Given the description of an element on the screen output the (x, y) to click on. 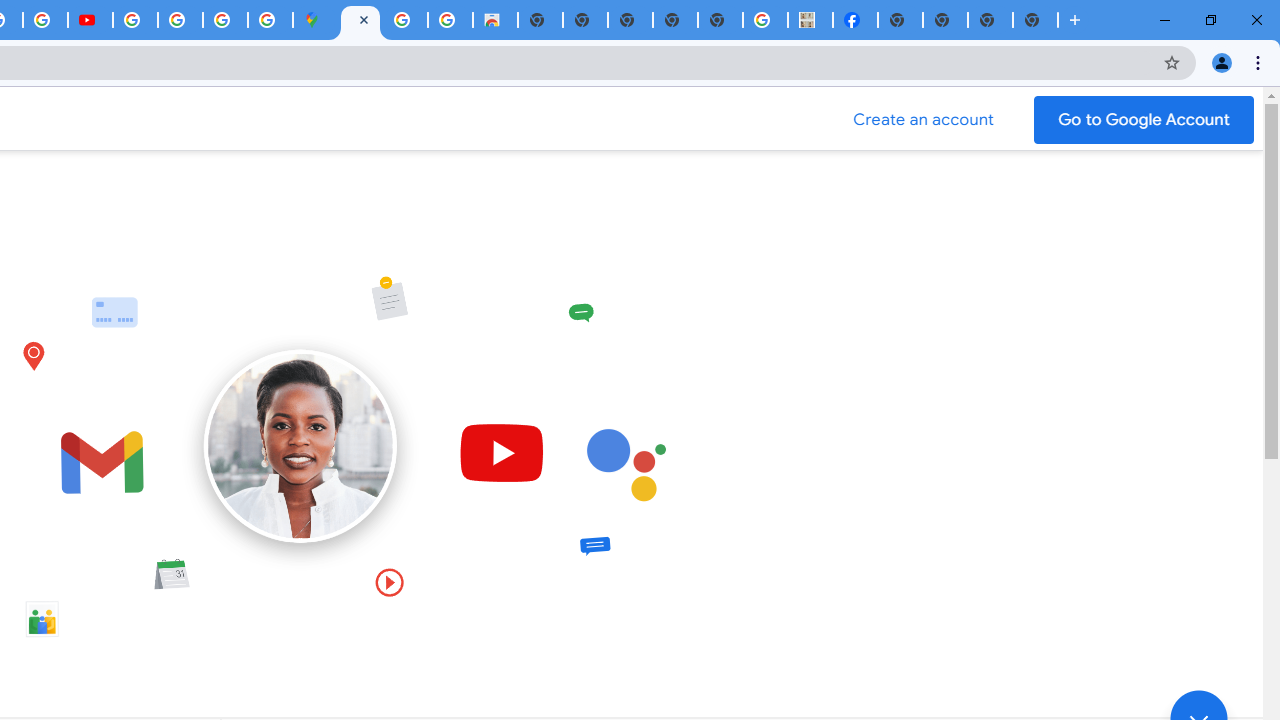
MILEY CYRUS. (810, 20)
Miley Cyrus | Facebook (855, 20)
Create a Google Account (923, 119)
Google Maps (315, 20)
New Tab (1035, 20)
